Given the description of an element on the screen output the (x, y) to click on. 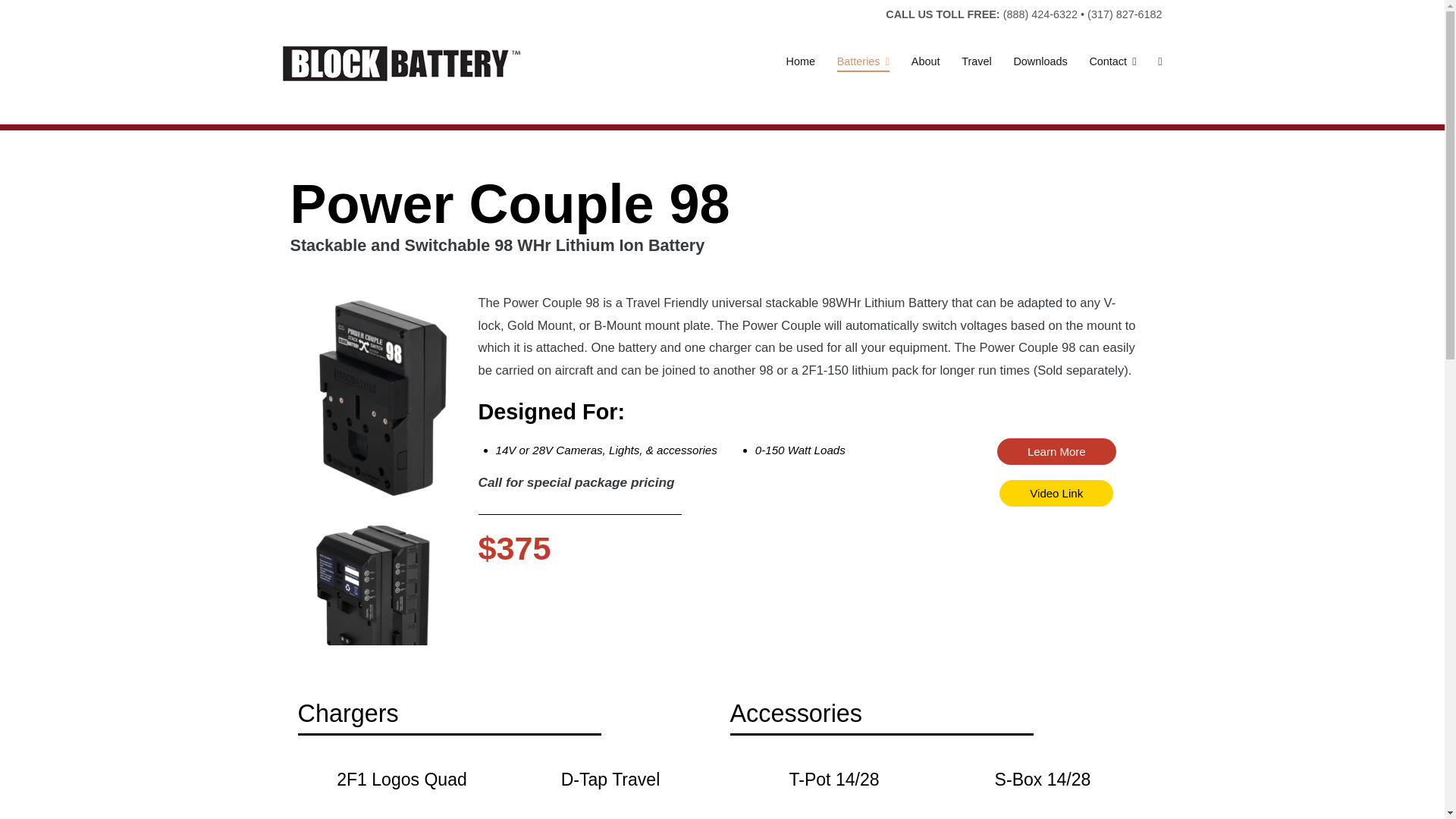
Home (800, 62)
Contact (1112, 62)
About (925, 62)
Travel (975, 62)
Batteries (863, 62)
Block Battery (588, 72)
Downloads (1040, 62)
